Given the description of an element on the screen output the (x, y) to click on. 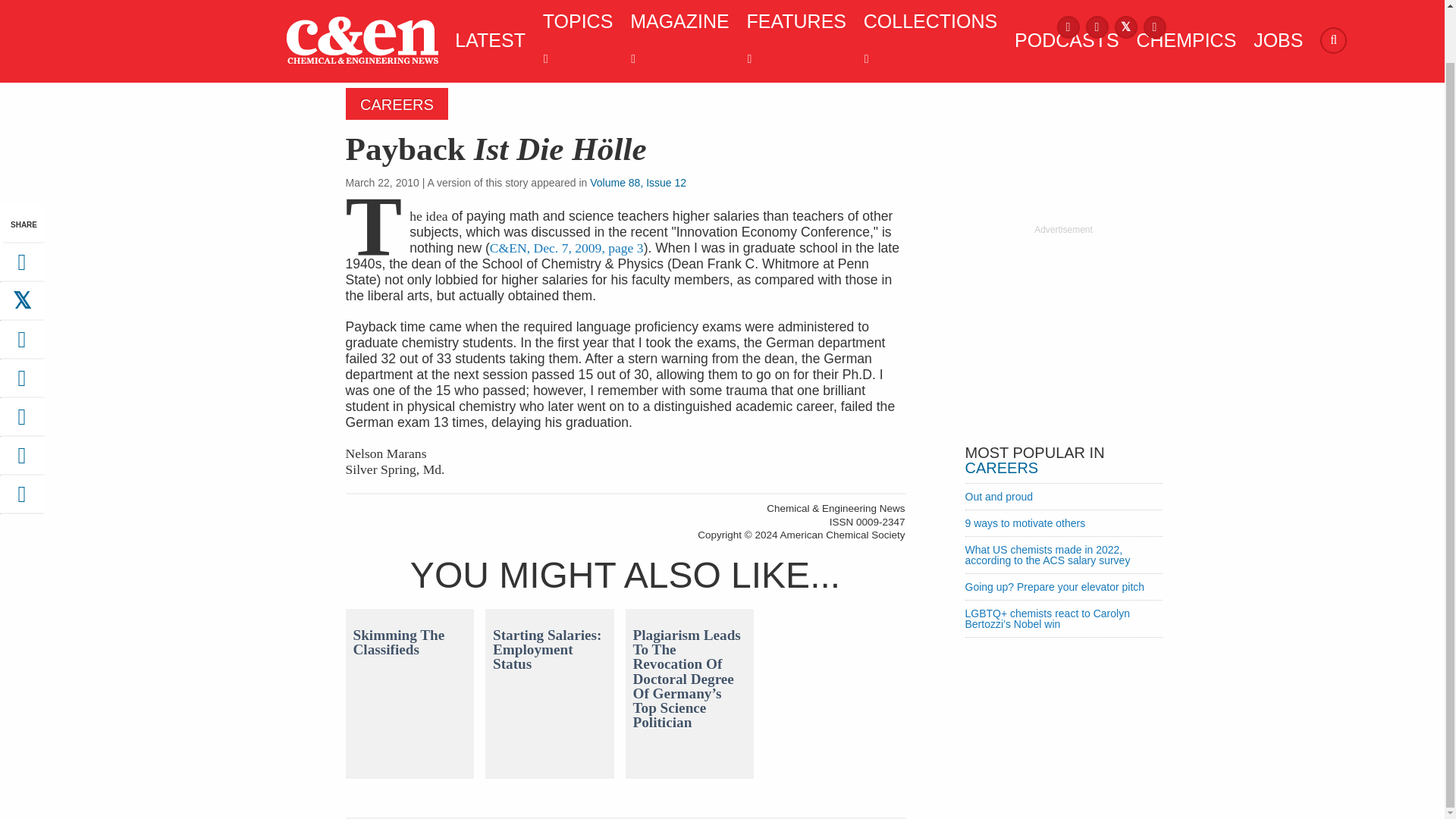
Facebook (1068, 25)
Instagram (1097, 25)
X (1126, 25)
TOPICS (573, 39)
LATEST (485, 39)
WeChat (21, 421)
LinkedIn (1154, 25)
3rd party ad content (1062, 330)
